Given the description of an element on the screen output the (x, y) to click on. 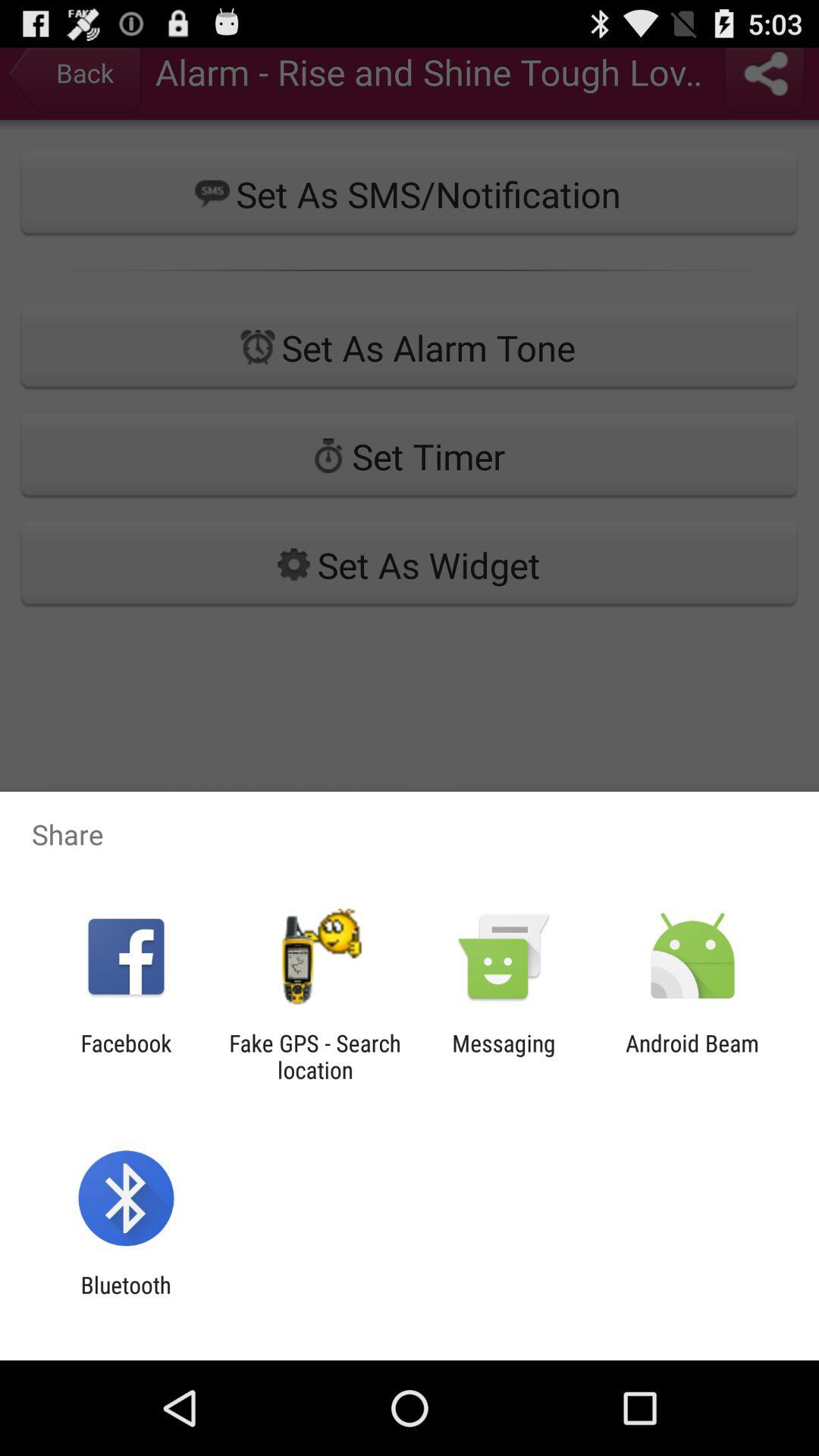
select the fake gps search (314, 1056)
